Given the description of an element on the screen output the (x, y) to click on. 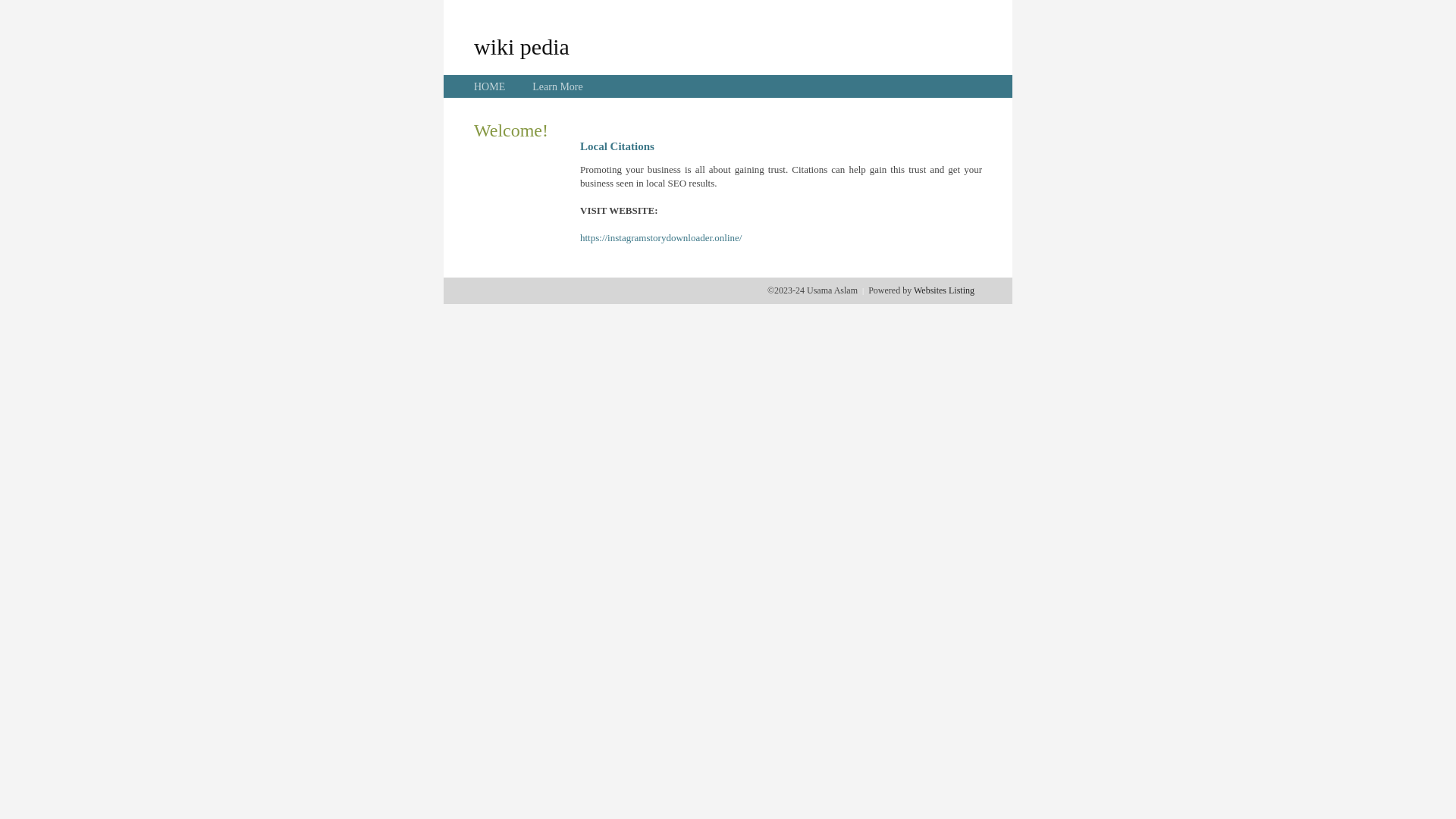
Websites Listing Element type: text (943, 290)
HOME Element type: text (489, 86)
Learn More Element type: text (557, 86)
https://instagramstorydownloader.online/ Element type: text (660, 237)
wiki pedia Element type: text (521, 46)
